Given the description of an element on the screen output the (x, y) to click on. 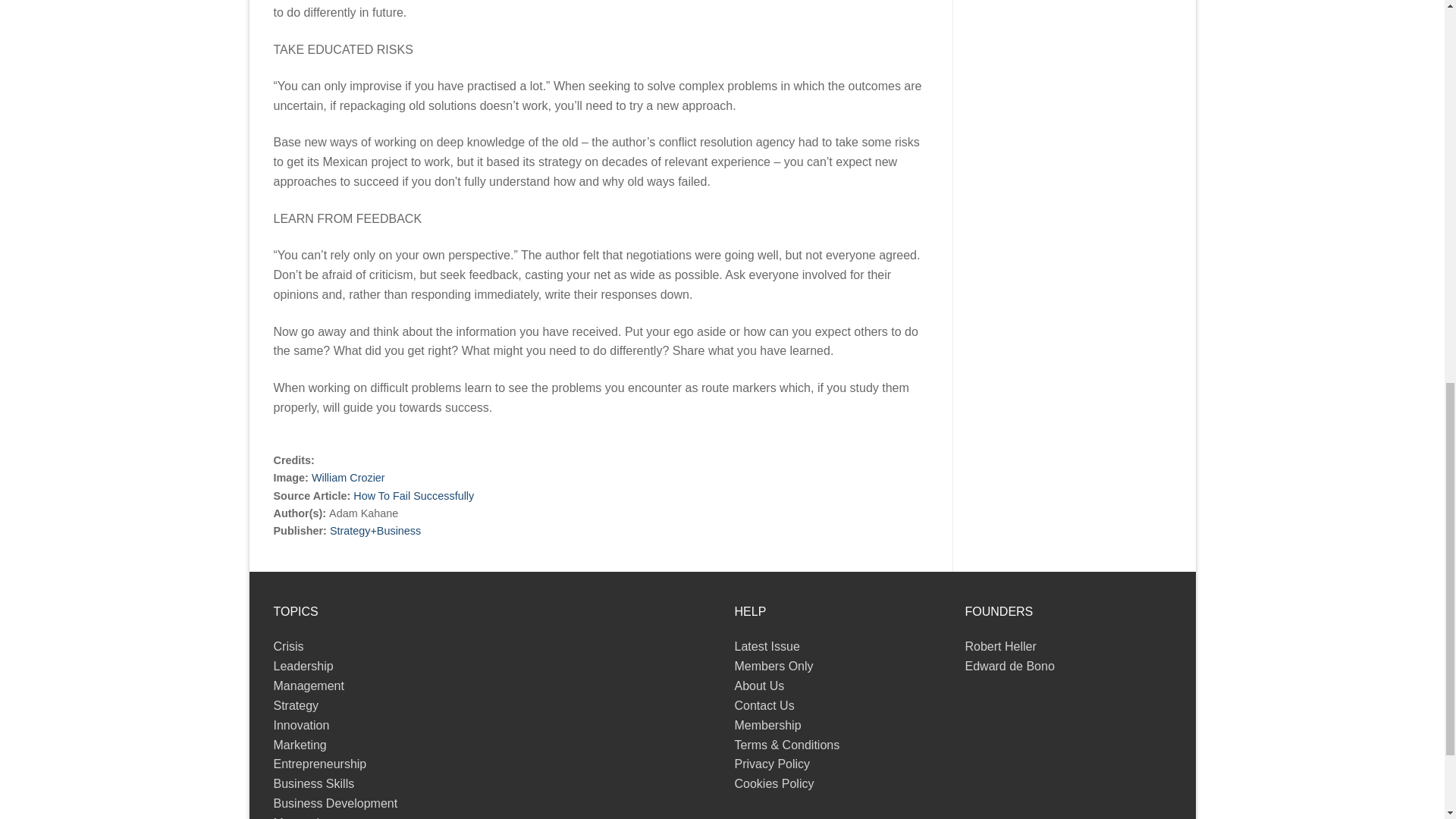
Crisis (287, 645)
Entrepreneurship (319, 763)
Masterclasses (311, 817)
Innovation (301, 725)
Contact Us (763, 705)
Strategy (295, 705)
Business Skills (313, 783)
Business Development (335, 802)
Members Only (772, 666)
Latest Issue (766, 645)
